Given the description of an element on the screen output the (x, y) to click on. 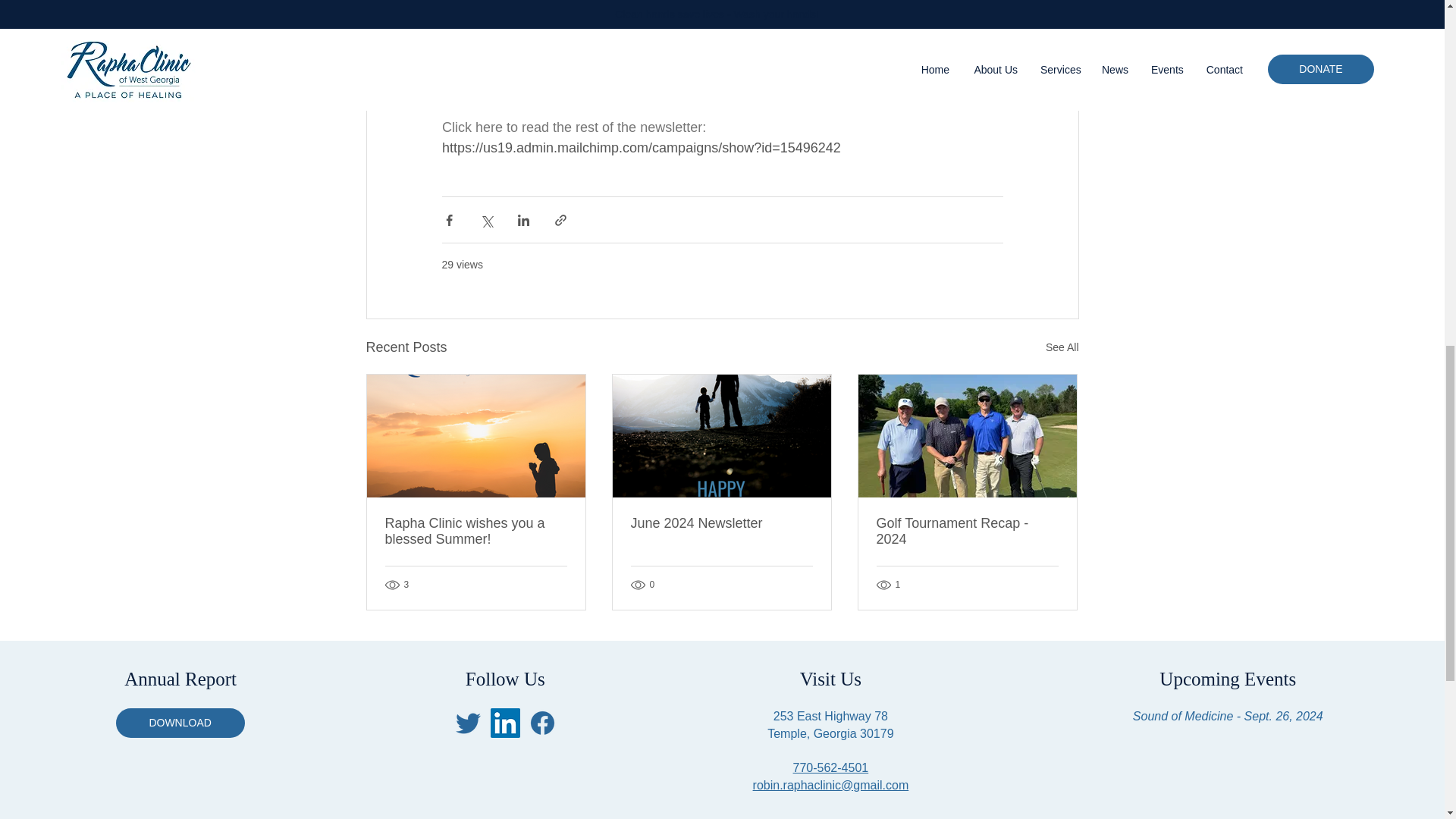
See All (1061, 347)
Golf Tournament Recap - 2024 (967, 531)
DOWNLOAD (180, 722)
Rapha Clinic wishes you a blessed Summer! (476, 531)
June 2024 Newsletter (721, 523)
770-562-4501 (831, 767)
